Given the description of an element on the screen output the (x, y) to click on. 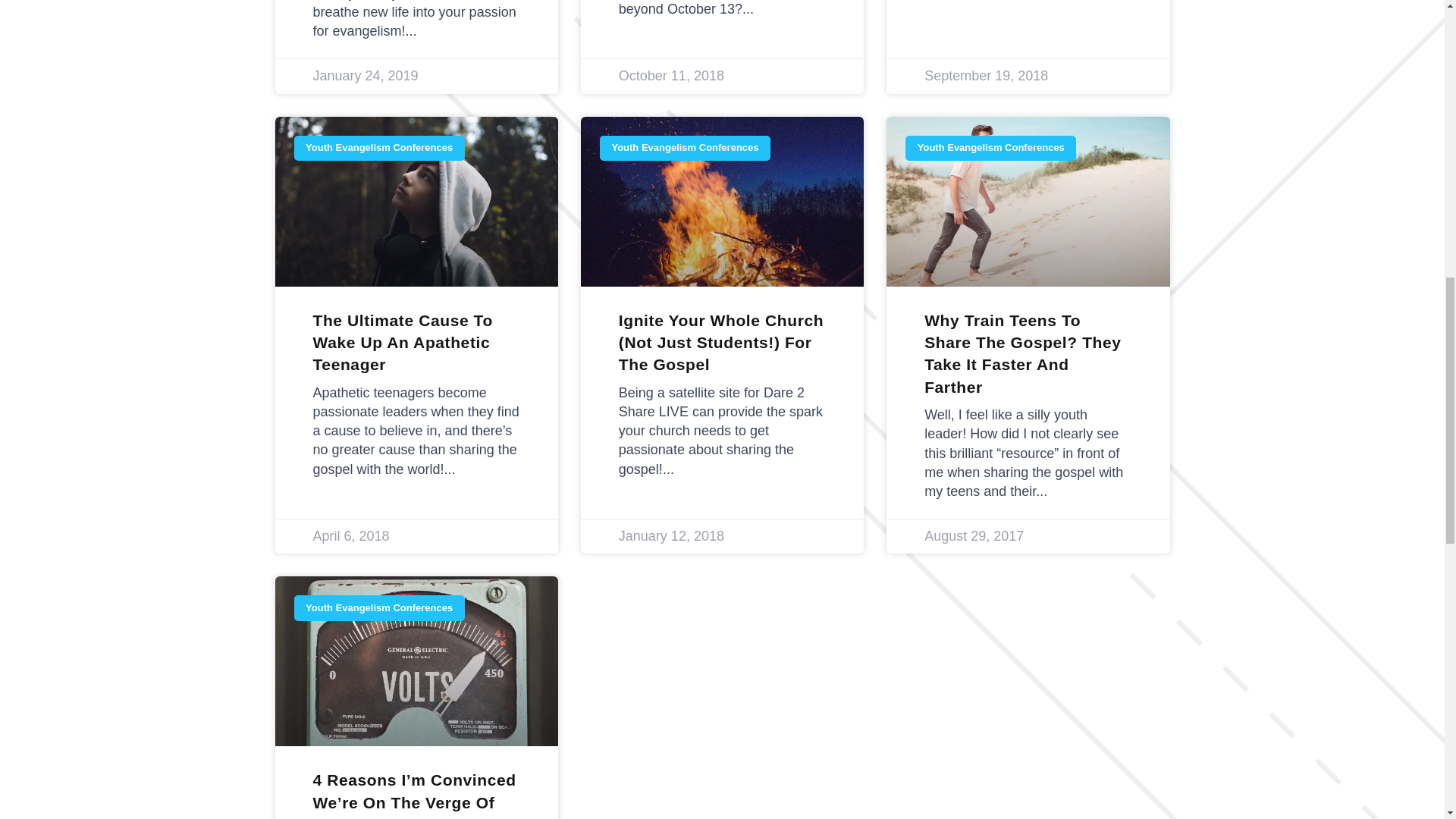
The Ultimate Cause To Wake Up An Apathetic Teenager (402, 342)
